Given the description of an element on the screen output the (x, y) to click on. 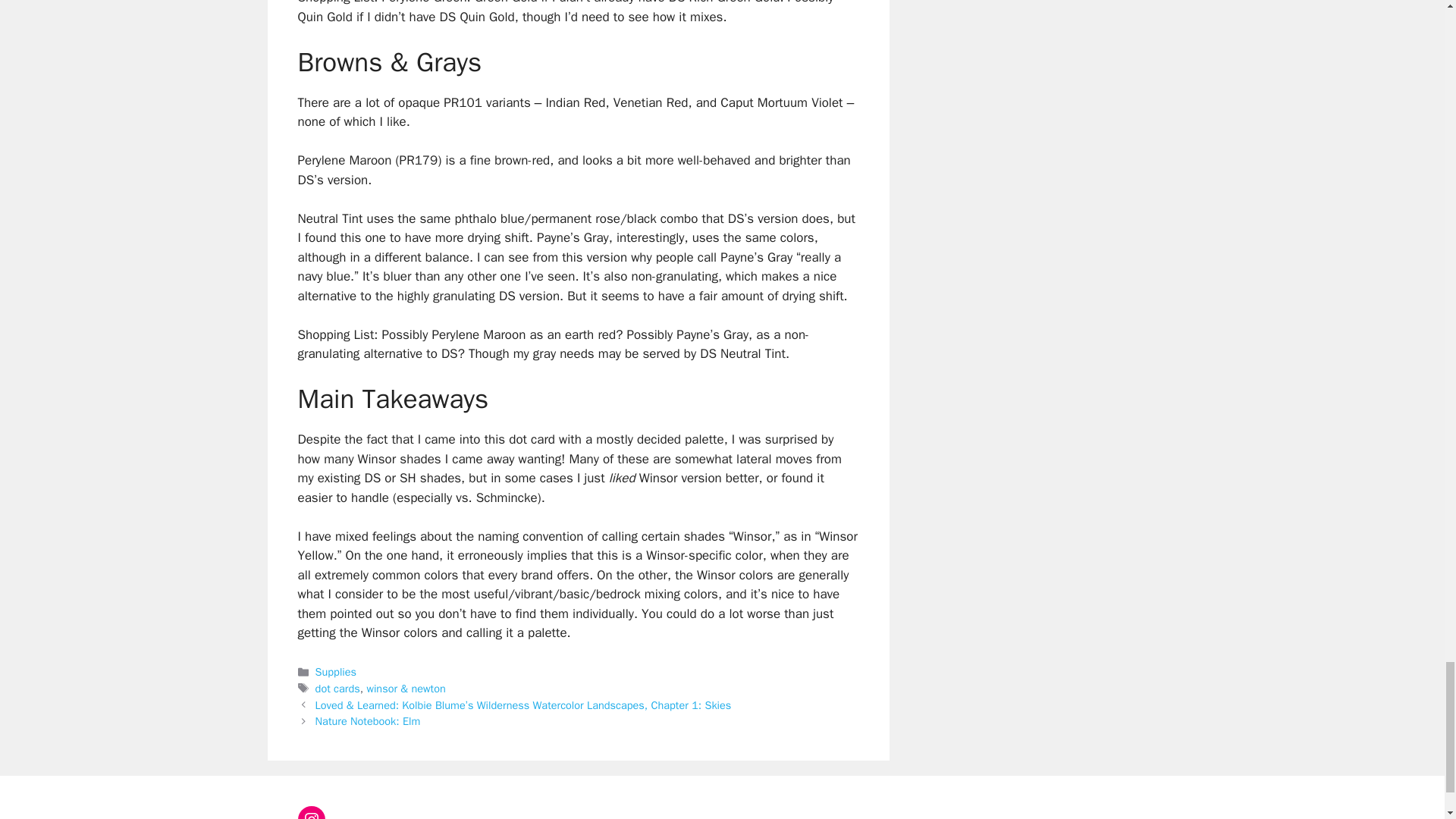
dot cards (337, 688)
Nature Notebook: Elm (367, 721)
Instagram (310, 812)
Supplies (335, 671)
